Given the description of an element on the screen output the (x, y) to click on. 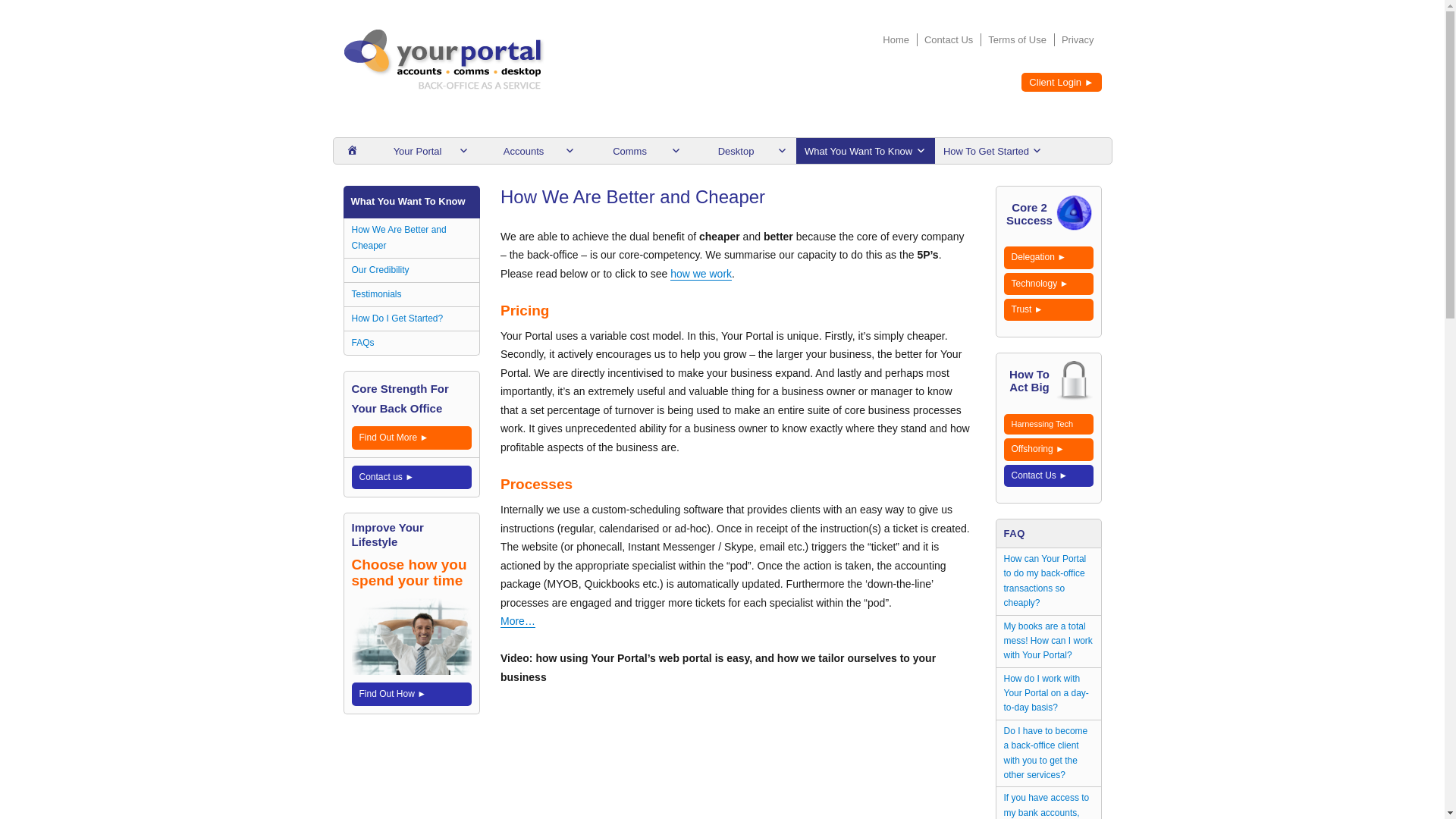
Privacy (1080, 39)
Your Portal (424, 150)
Accounts (530, 150)
Terms of Use (1019, 39)
Home (898, 39)
Home (352, 150)
Contact Us (949, 39)
Comms (636, 150)
